Given the description of an element on the screen output the (x, y) to click on. 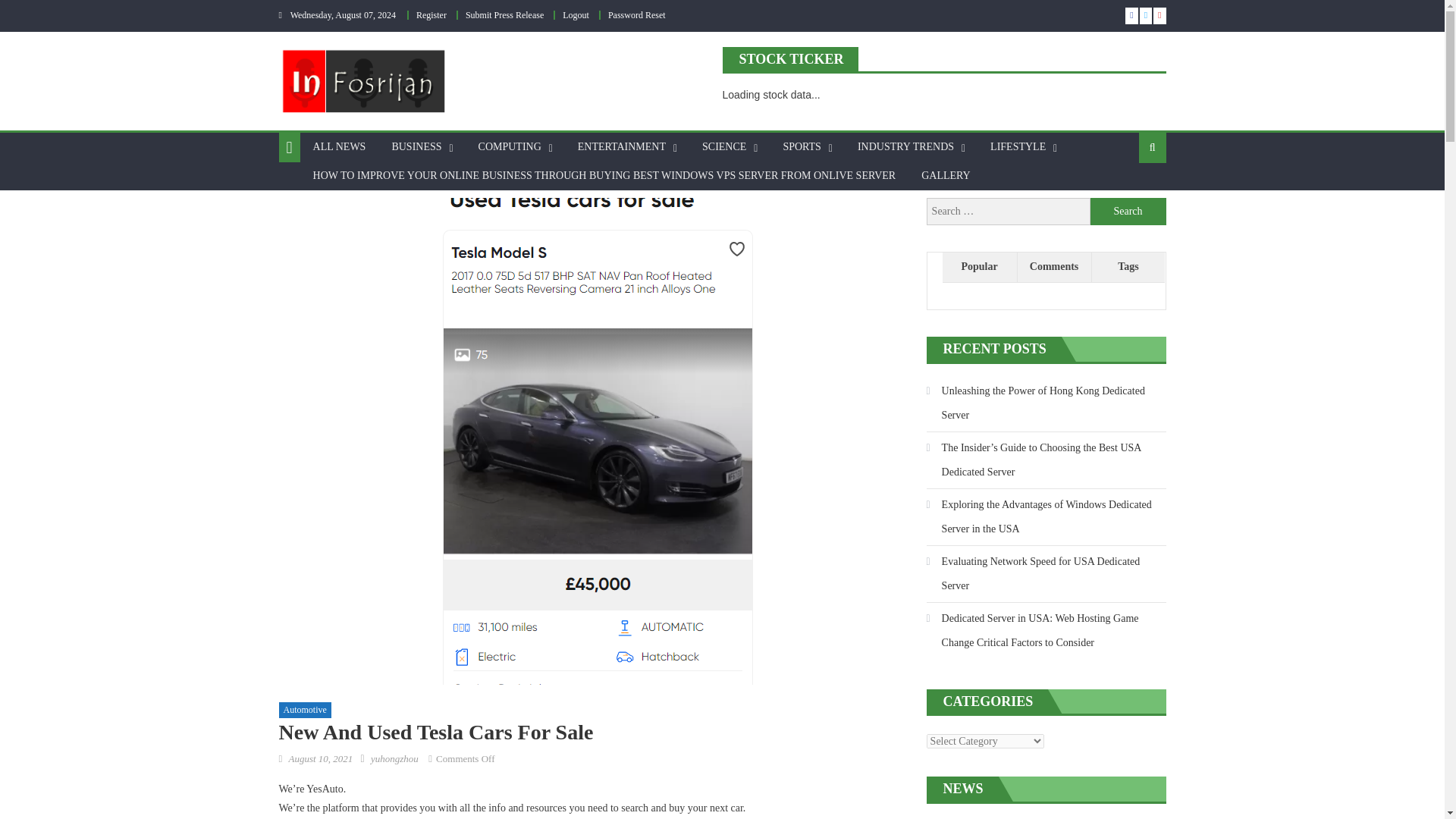
Register (431, 14)
SCIENCE (723, 146)
Search (1128, 211)
ENTERTAINMENT (621, 146)
Search (1128, 211)
Submit Press Release (504, 14)
SPORTS (801, 146)
COMPUTING (510, 146)
Password Reset (636, 14)
BUSINESS (416, 146)
ALL NEWS (339, 146)
Logout (575, 14)
